Given the description of an element on the screen output the (x, y) to click on. 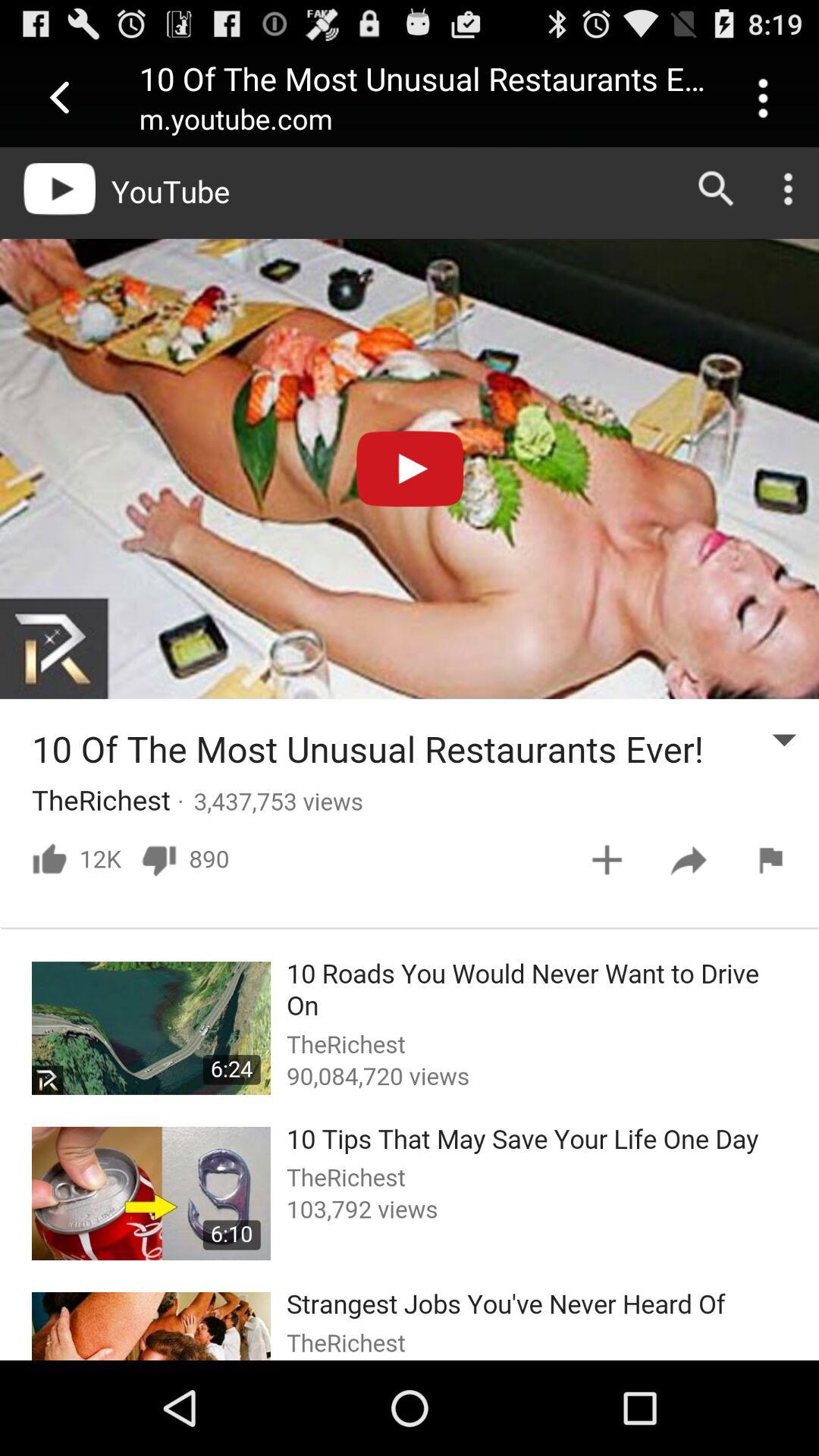
color print (409, 753)
